Given the description of an element on the screen output the (x, y) to click on. 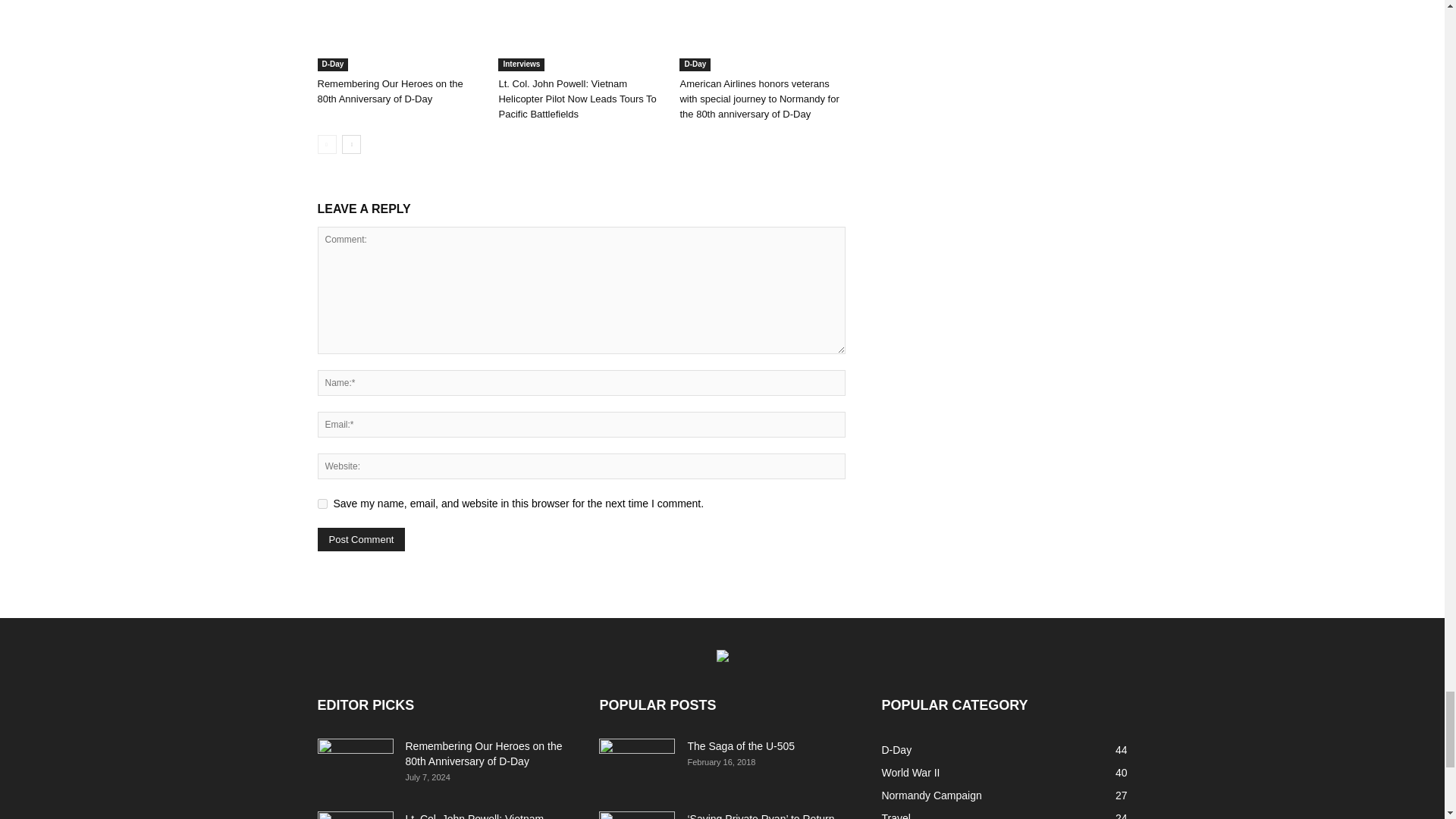
Remembering Our Heroes on the 80th Anniversary of D-Day (399, 35)
Remembering Our Heroes on the 80th Anniversary of D-Day (390, 90)
yes (321, 503)
Post Comment (360, 539)
